Given the description of an element on the screen output the (x, y) to click on. 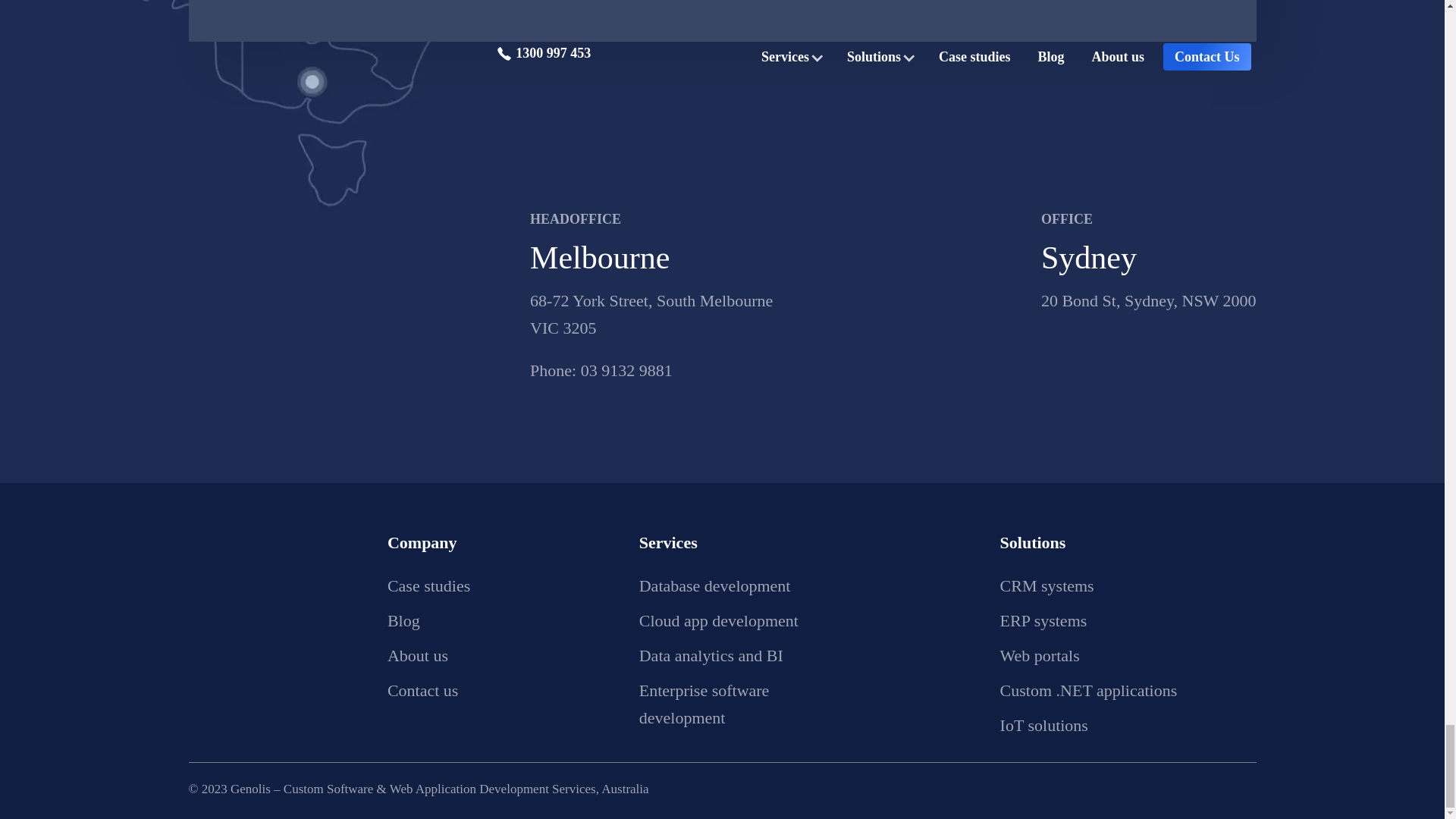
CRM systems (1047, 585)
Case studies (428, 585)
Contact us (422, 690)
ERP systems (1043, 619)
Cloud app development (718, 619)
Blog (403, 619)
Database development (714, 585)
About us (417, 655)
Web portals (1040, 655)
Data analytics and BI (711, 655)
